Given the description of an element on the screen output the (x, y) to click on. 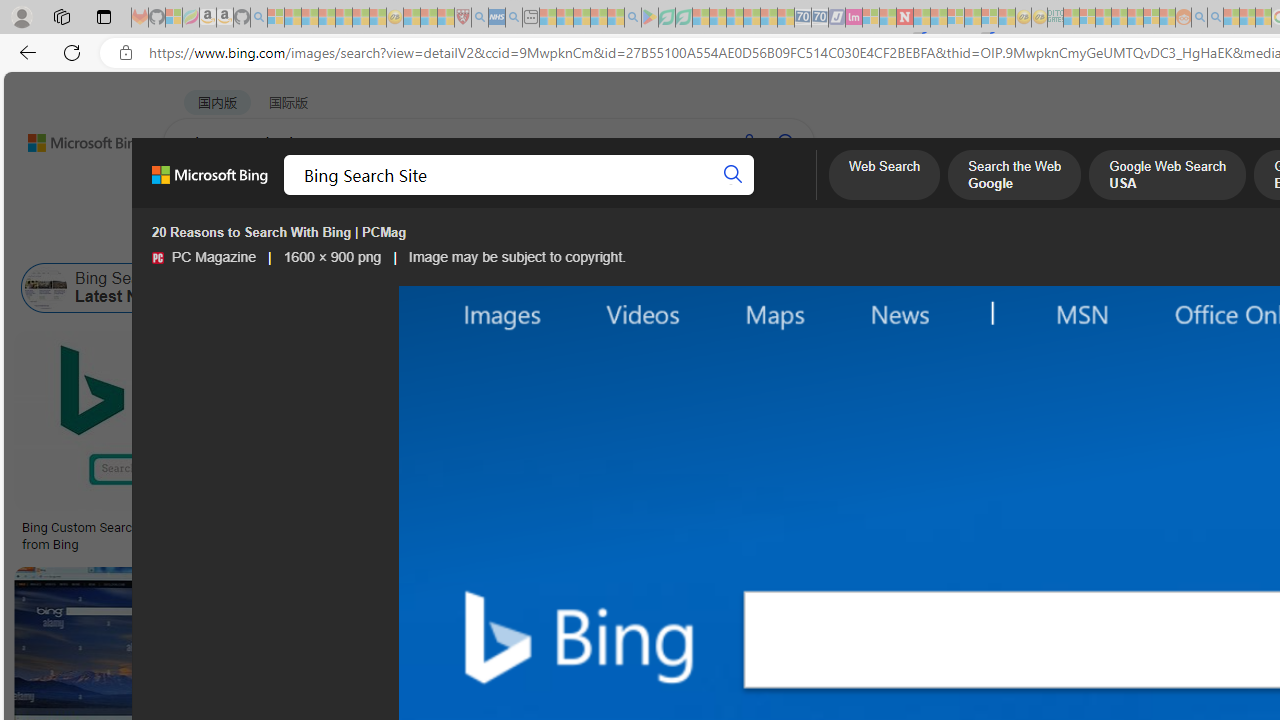
Image result for Bing Search Site (492, 421)
Date (591, 237)
Image size (221, 237)
Layout (443, 237)
